Given the description of an element on the screen output the (x, y) to click on. 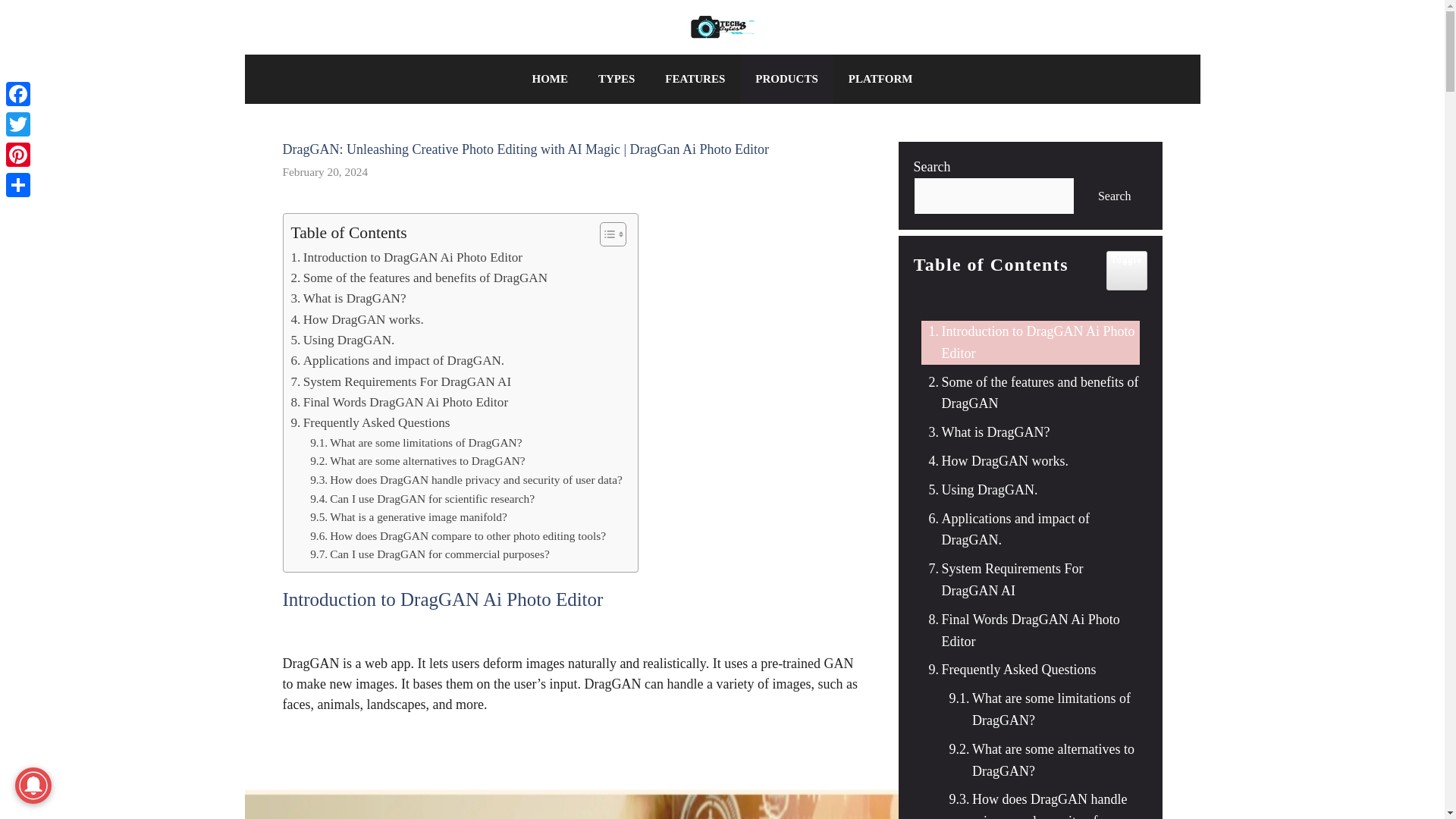
Introduction to DragGAN Ai Photo Editor (406, 257)
System Requirements For DragGAN AI (401, 381)
Can I use DragGAN for scientific research? (422, 498)
What are some limitations of DragGAN? (415, 443)
Some of the features and benefits of DragGAN (419, 277)
Applications and impact of DragGAN. (398, 360)
What is DragGAN? (348, 298)
Applications and impact of DragGAN. (398, 360)
Introduction to DragGAN Ai Photo Editor (1029, 342)
Introduction to DragGAN Ai Photo Editor (406, 257)
How does DragGAN compare to other photo editing tools? (457, 536)
What is DragGAN? (348, 298)
Some of the features and benefits of DragGAN (419, 277)
Using DragGAN. (342, 340)
TYPES (616, 79)
